Given the description of an element on the screen output the (x, y) to click on. 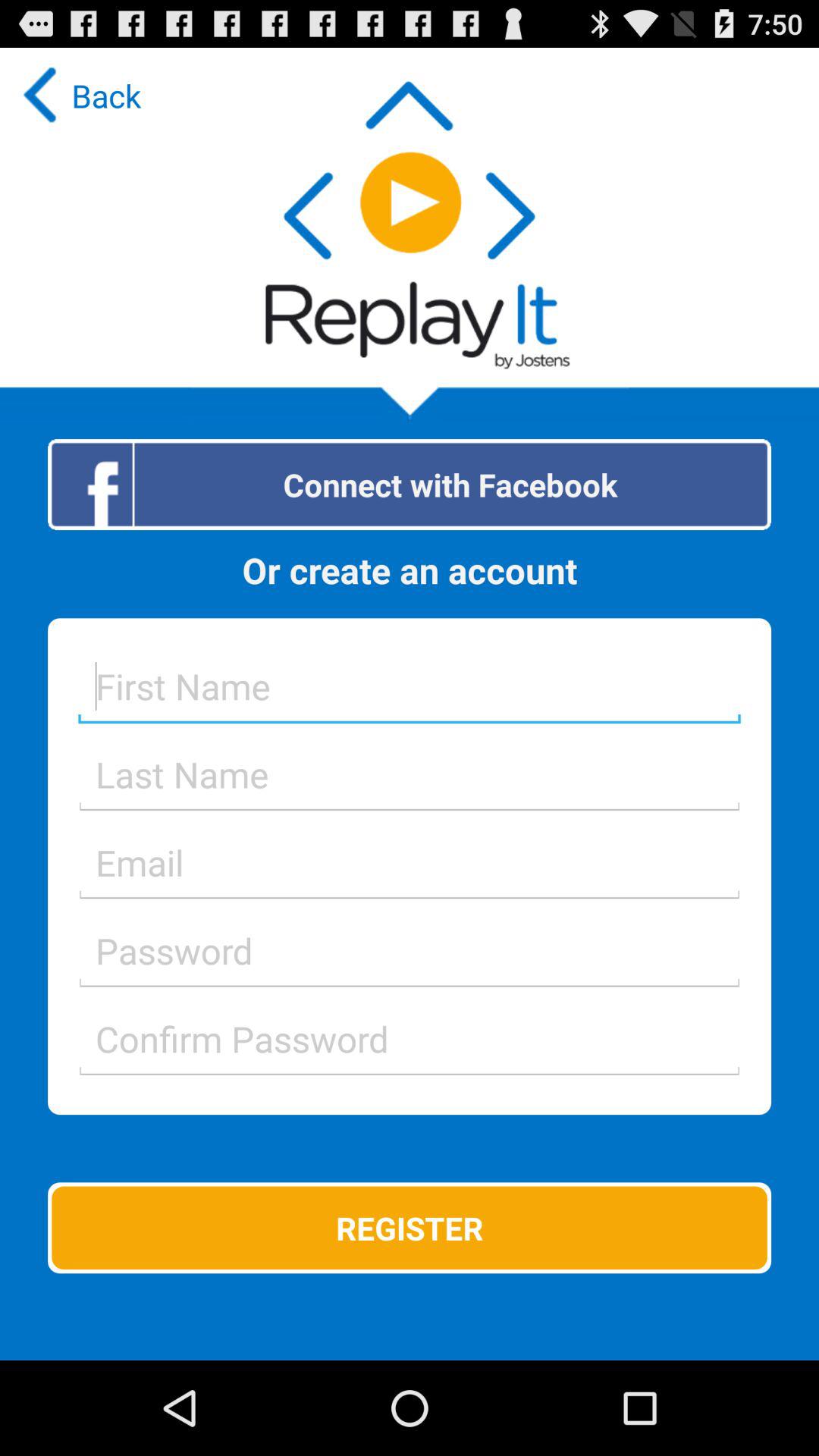
turn off connect with facebook button (409, 484)
